Given the description of an element on the screen output the (x, y) to click on. 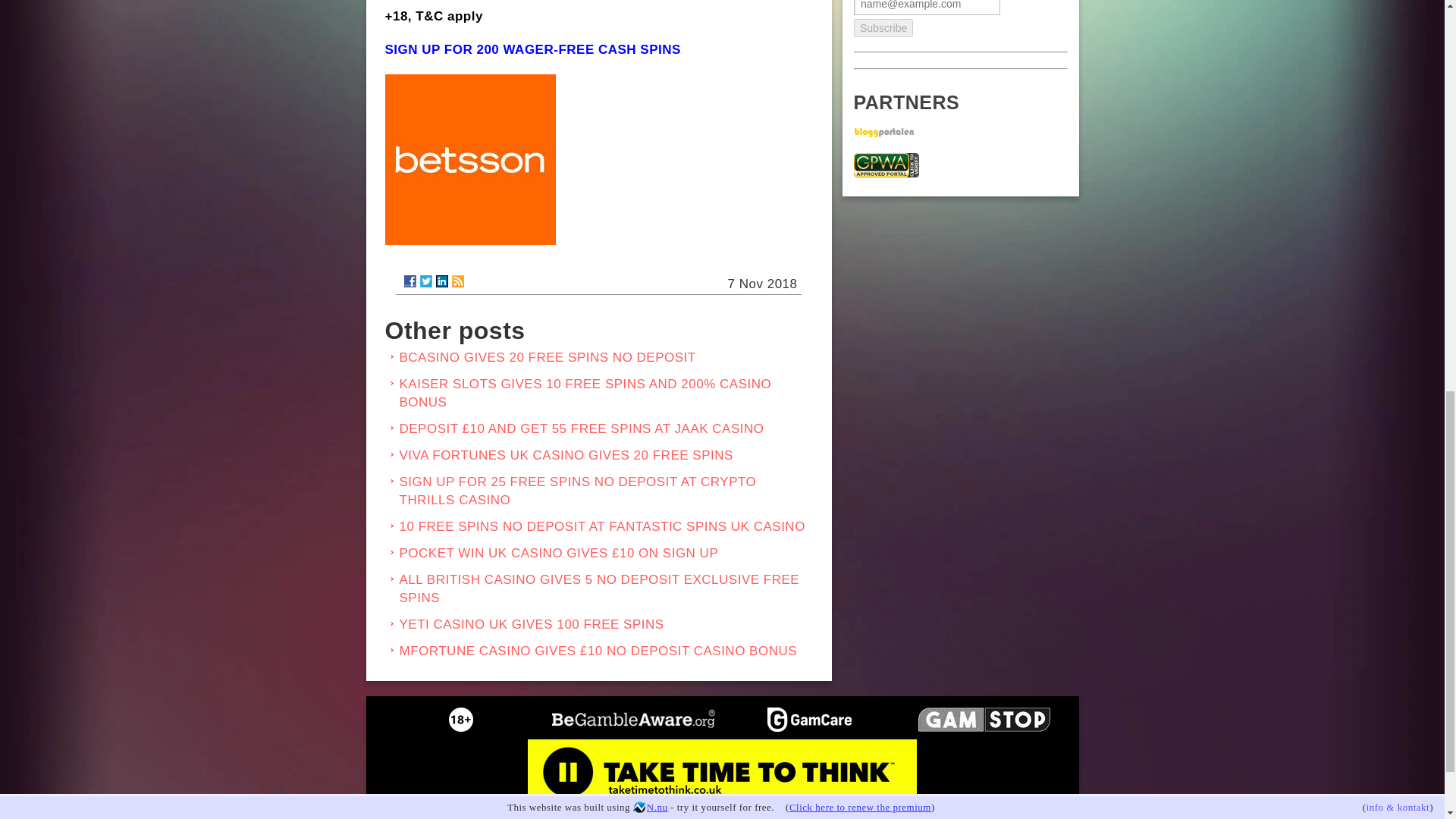
LinkedIn (440, 281)
Twitter (426, 281)
VIVA FORTUNES UK CASINO GIVES 20 FREE SPINS (565, 454)
10 FREE SPINS NO DEPOSIT AT FANTASTIC SPINS UK CASINO (601, 526)
ALL BRITISH CASINO GIVES 5 NO DEPOSIT EXCLUSIVE FREE SPINS (598, 588)
SIGN UP FOR 200 WAGER-FREE CASH SPINS (533, 49)
BCASINO GIVES 20 FREE SPINS NO DEPOSIT (546, 357)
Subscribe (929, 22)
Facebook (408, 281)
